Given the description of an element on the screen output the (x, y) to click on. 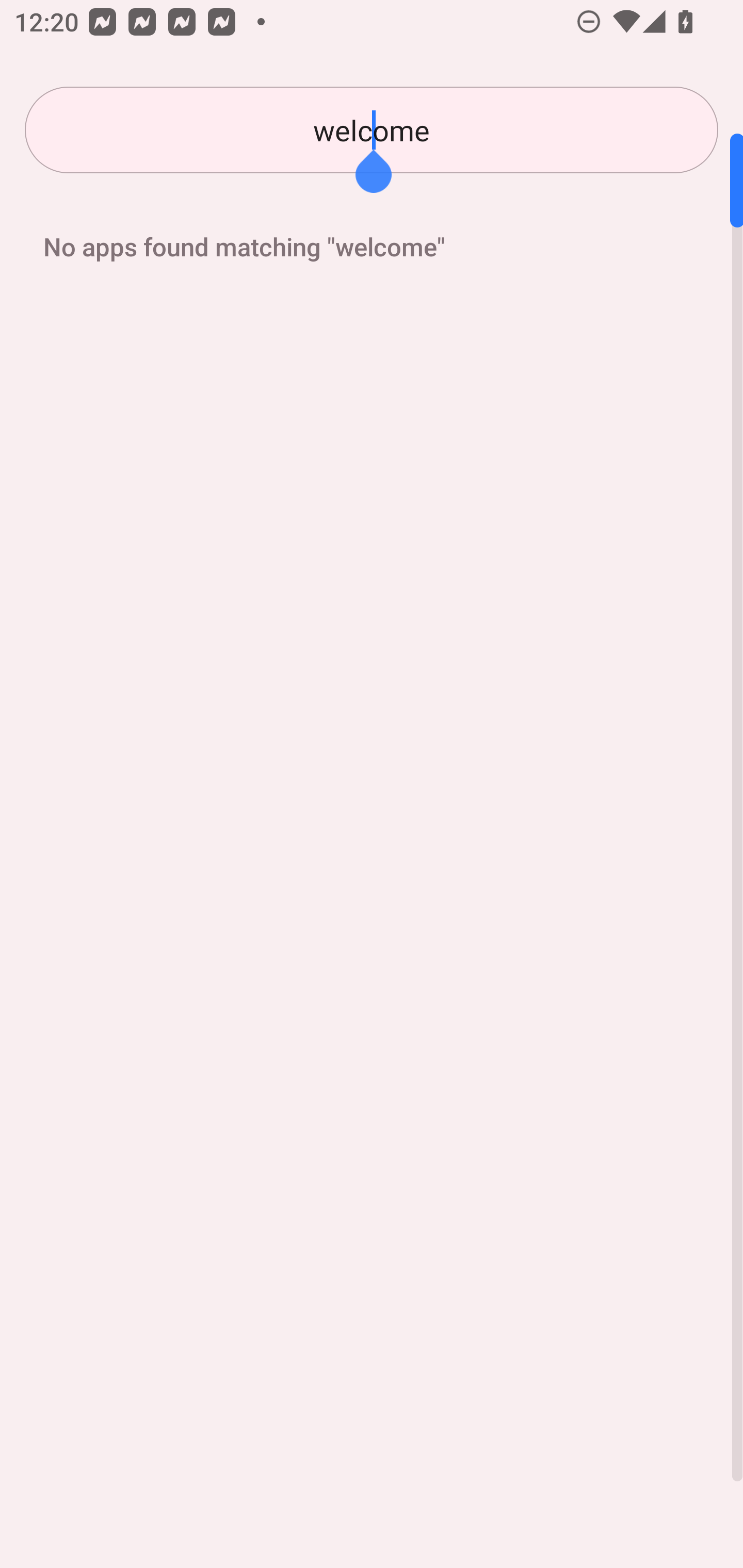
welcome (371, 130)
